Given the description of an element on the screen output the (x, y) to click on. 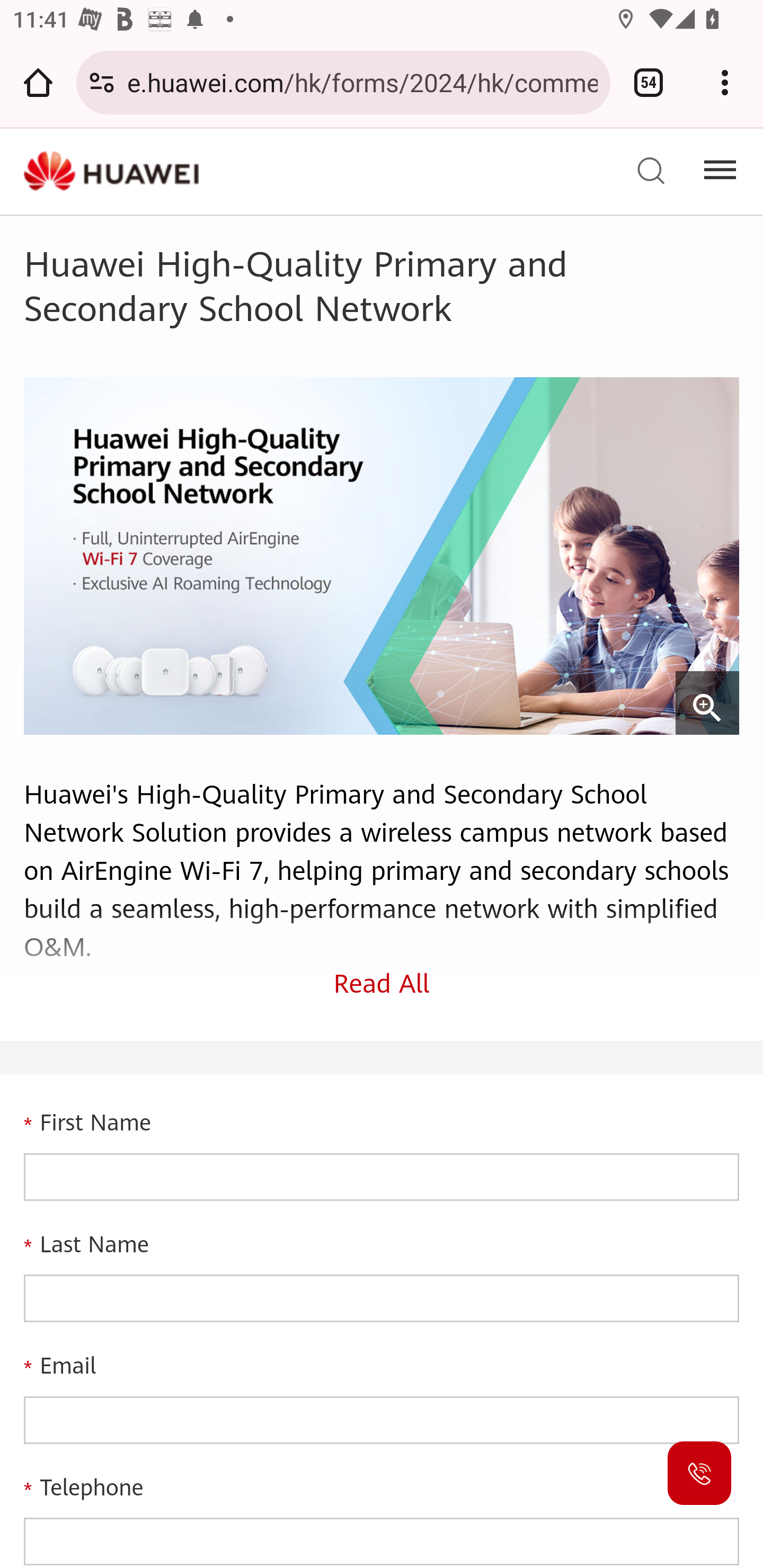
Open the home page (38, 82)
Connection is secure (101, 82)
Switch or close tabs (648, 82)
Customize and control Google Chrome (724, 82)
